Given the description of an element on the screen output the (x, y) to click on. 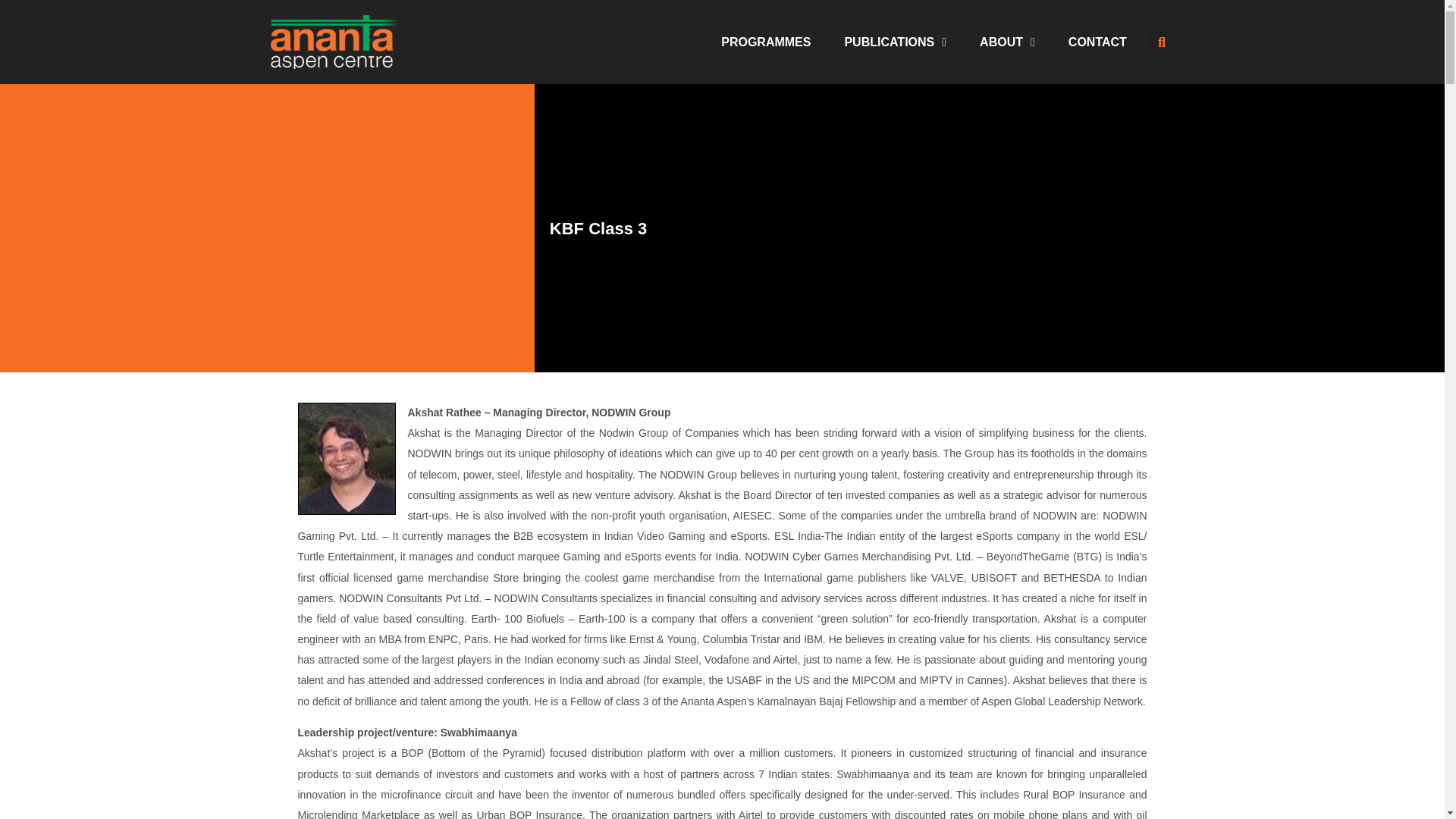
ABOUT (1006, 41)
PUBLICATIONS (894, 41)
CONTACT (1096, 41)
PROGRAMMES (765, 41)
